Given the description of an element on the screen output the (x, y) to click on. 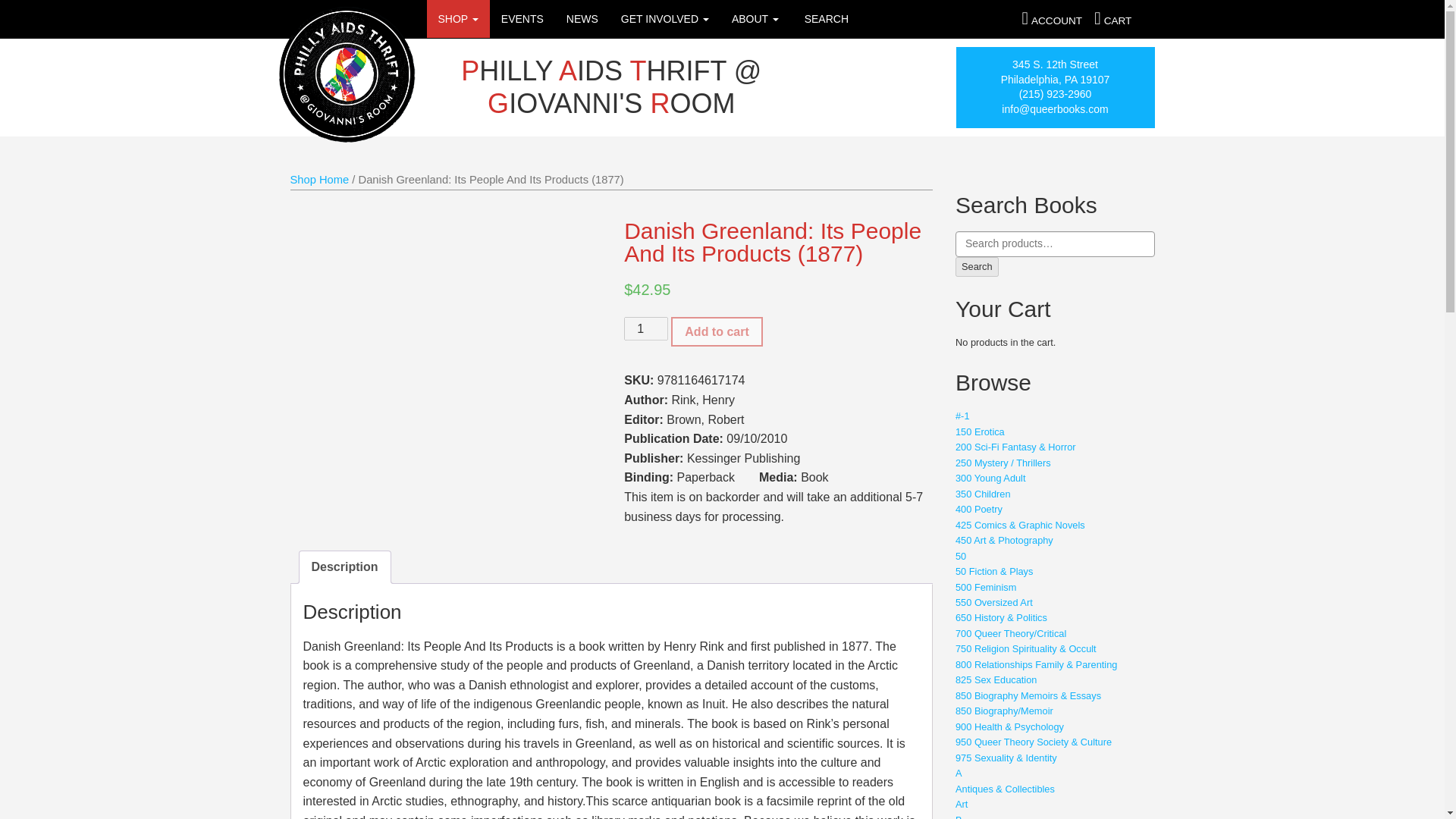
Shop Home (319, 179)
Search (976, 266)
ACCOUNT (1051, 19)
ABOUT (755, 18)
300 Young Adult (990, 478)
350 Children (982, 493)
50 (960, 555)
Get Involved (665, 18)
Add to cart (716, 331)
Events (521, 18)
